Given the description of an element on the screen output the (x, y) to click on. 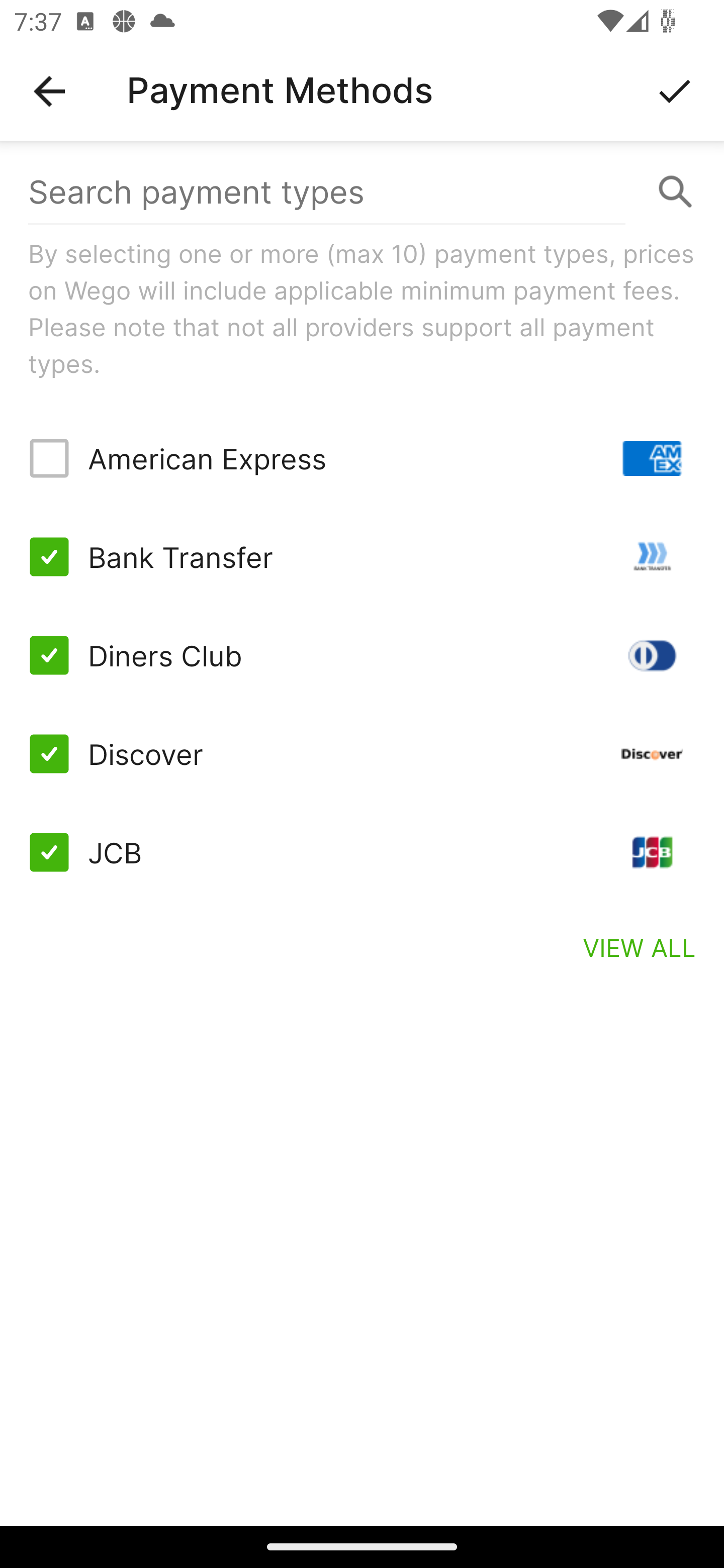
Search payment types  (361, 191)
American Express (362, 458)
Bank Transfer (362, 557)
Diners Club (362, 655)
Discover (362, 753)
JCB (362, 851)
VIEW ALL (639, 946)
